Given the description of an element on the screen output the (x, y) to click on. 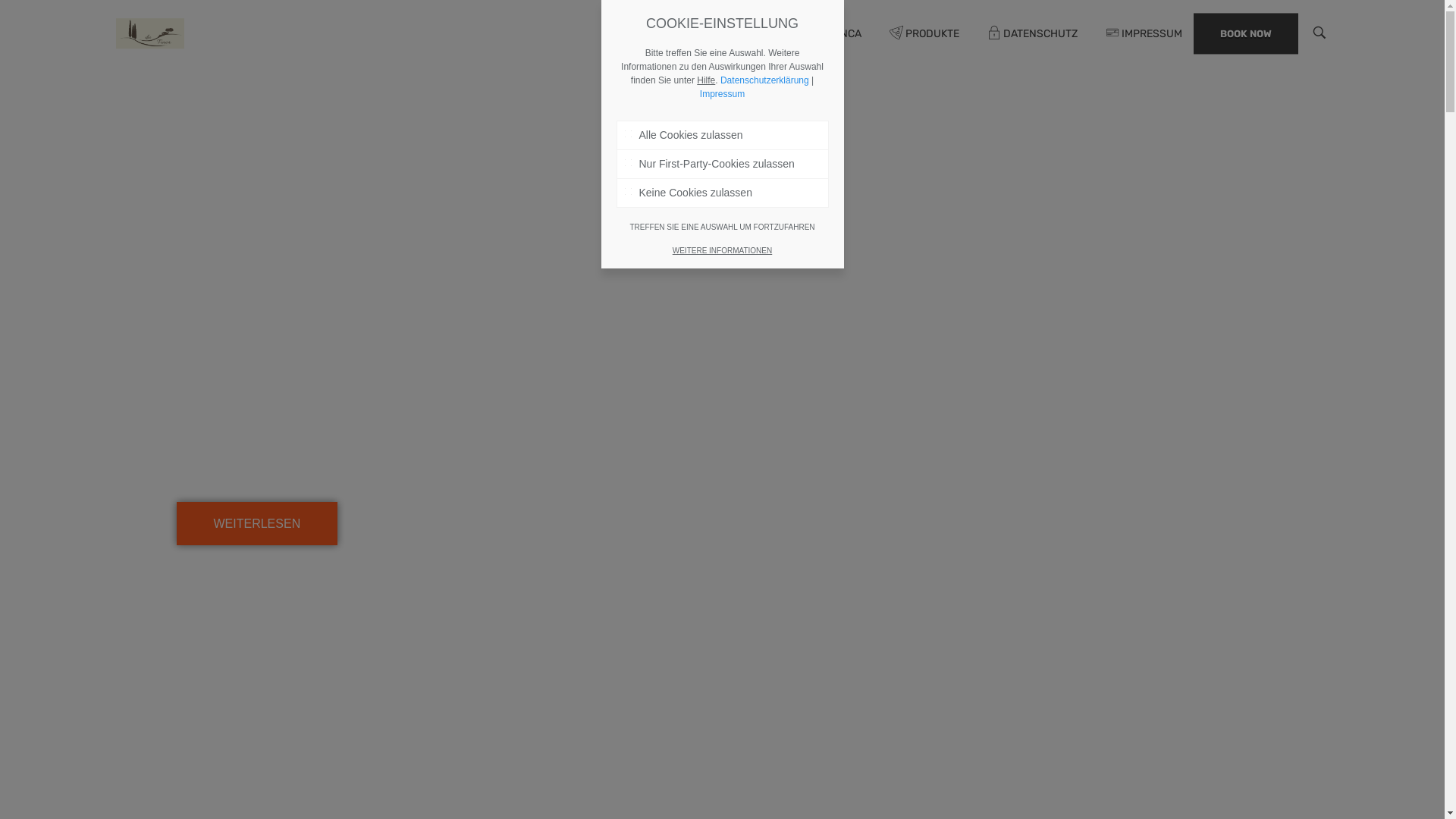
WEITERLESEN Element type: text (256, 523)
BOOK NOW Element type: text (1245, 32)
Die Finca Element type: text (155, 73)
IMPRESSUM Element type: text (1136, 33)
DATENSCHUTZ Element type: text (1031, 33)
Impressum Element type: text (721, 93)
PRODUKTE Element type: text (924, 33)
DIE FINCA Element type: text (828, 33)
START Element type: text (750, 33)
